Given the description of an element on the screen output the (x, y) to click on. 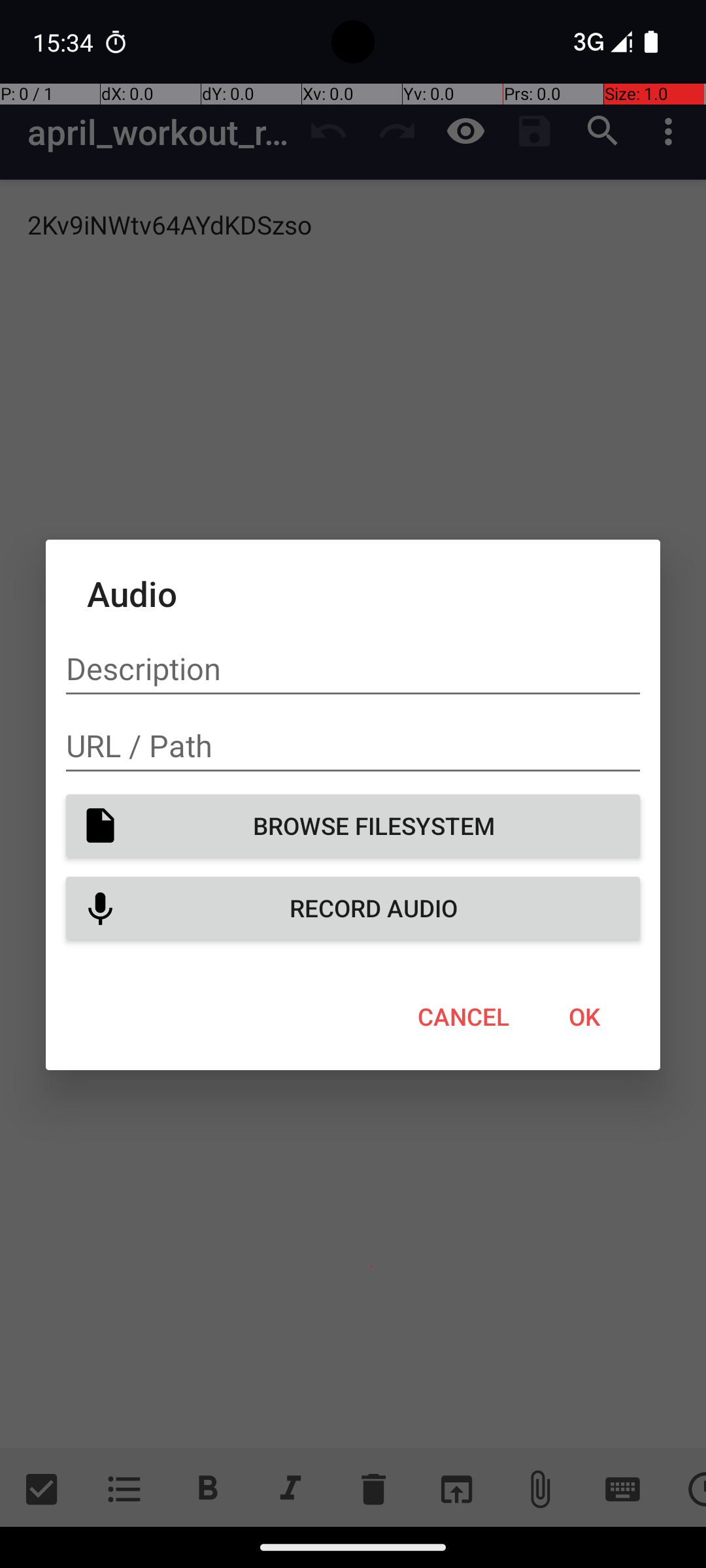
URL / Path Element type: android.widget.EditText (352, 745)
BROWSE FILESYSTEM Element type: android.widget.Button (352, 825)
RECORD AUDIO Element type: android.widget.Button (352, 907)
